Given the description of an element on the screen output the (x, y) to click on. 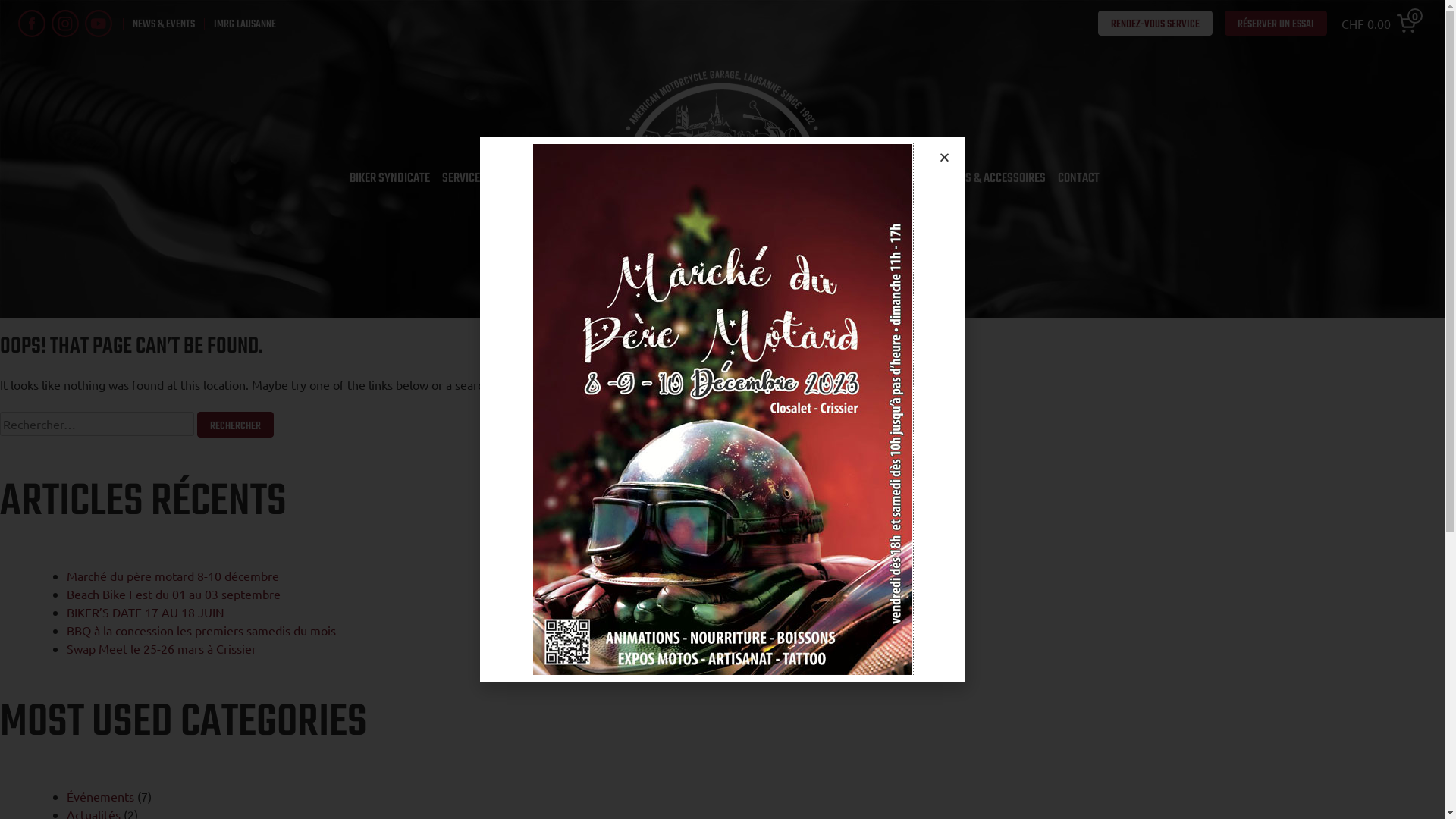
BIKER SYNDICATE Element type: text (623, 176)
NOS OCCASIONS Element type: text (534, 179)
NEWS & EVENTS Element type: text (158, 24)
CONTACT Element type: text (1078, 179)
INDIAN Element type: text (888, 179)
SERVICES Element type: text (464, 179)
Beach Bike Fest du 01 au 03 septembre Element type: text (173, 593)
Rechercher Element type: text (235, 424)
RENDEZ-VOUS SERVICE Element type: text (1155, 23)
CHF 0.00
0 Element type: text (1381, 23)
instagram Element type: hover (64, 22)
IMRG LAUSANNE Element type: text (239, 24)
BIKER SYNDICATE Element type: text (389, 179)
youtube Element type: hover (98, 22)
facebook Element type: hover (31, 22)
